Given the description of an element on the screen output the (x, y) to click on. 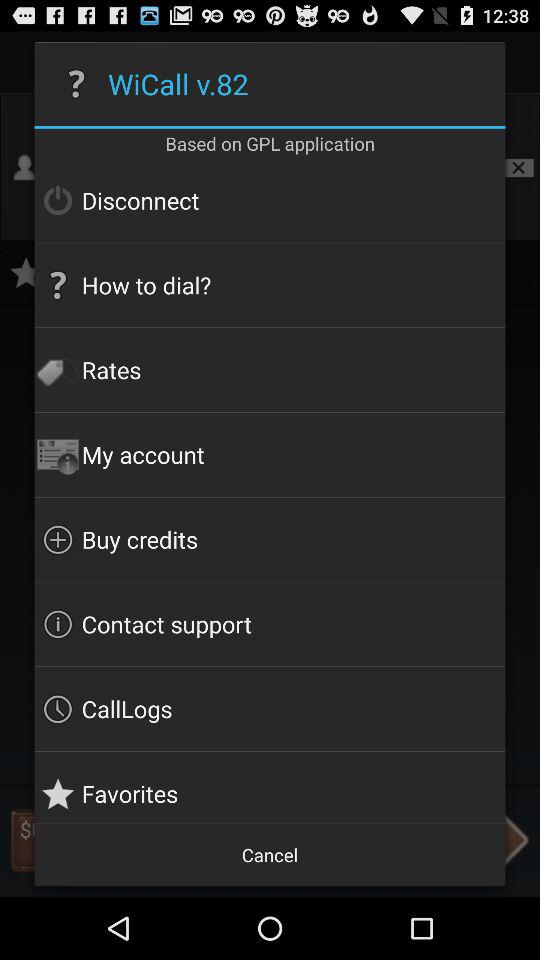
open icon below disconnect icon (269, 285)
